Given the description of an element on the screen output the (x, y) to click on. 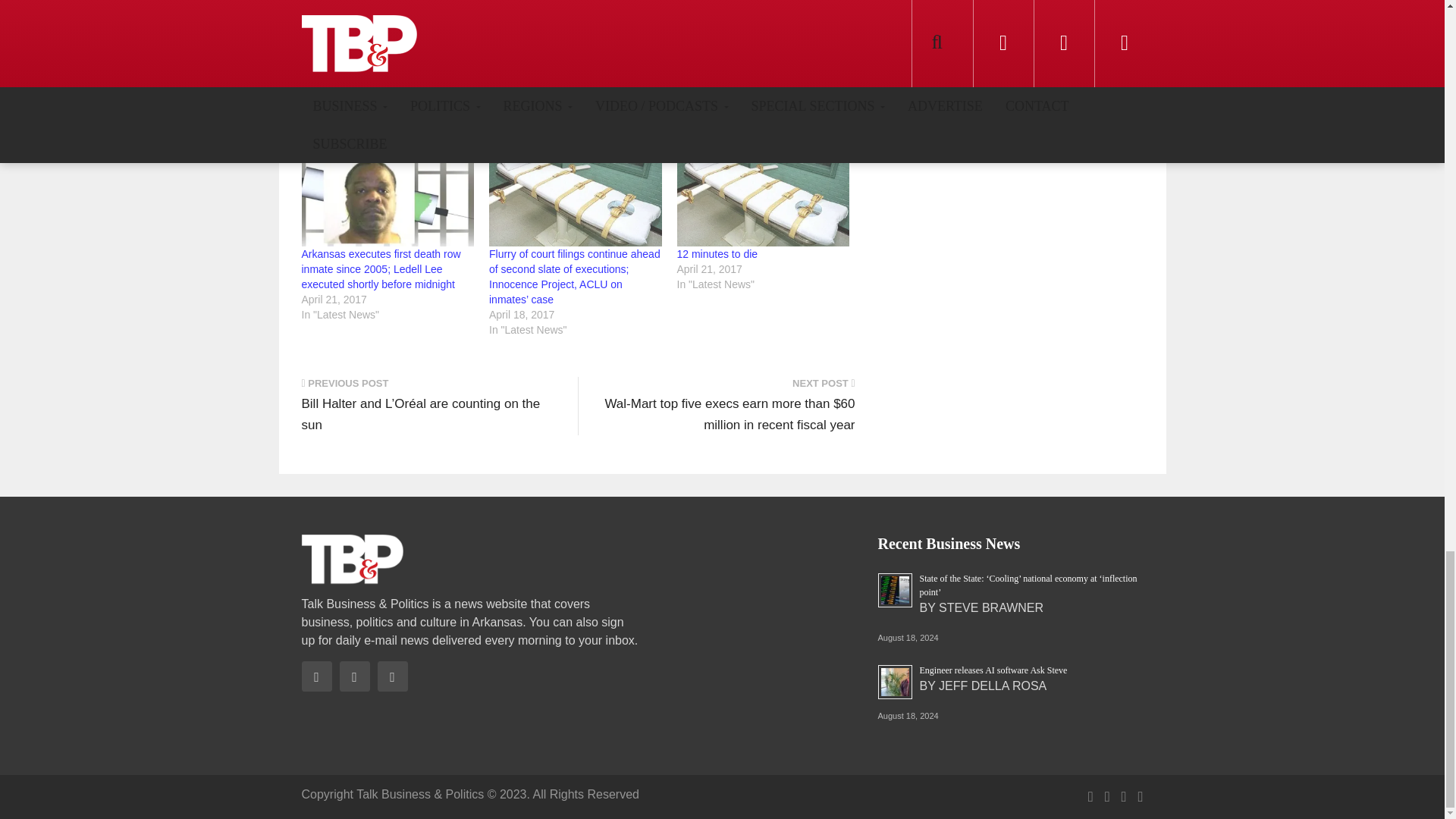
Click to share on X (404, 73)
Click to share on Threads (541, 73)
Click to share on Facebook (339, 73)
Click to print (609, 73)
Click to share on LinkedIn (464, 73)
